Given the description of an element on the screen output the (x, y) to click on. 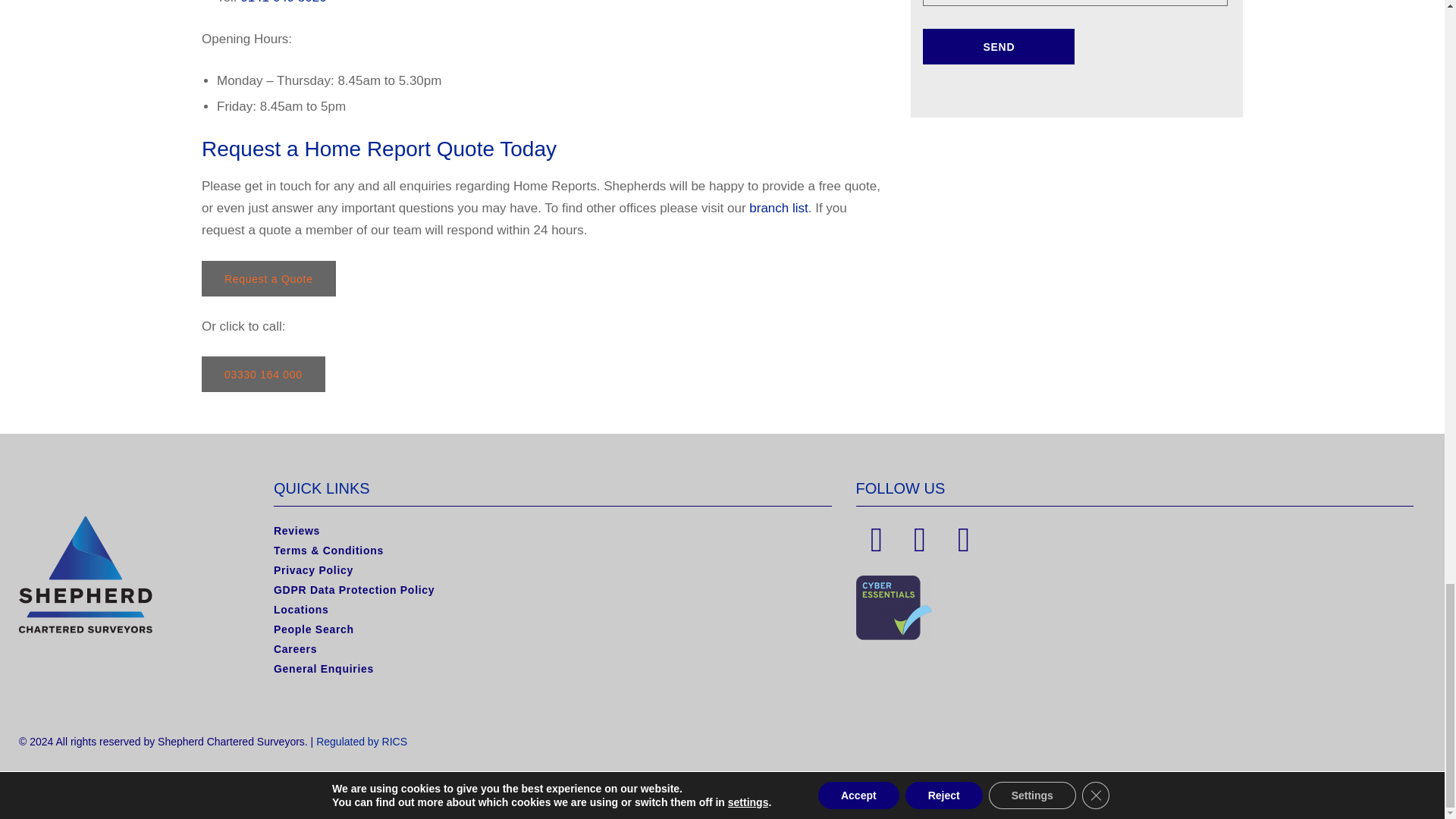
Send (998, 46)
